Given the description of an element on the screen output the (x, y) to click on. 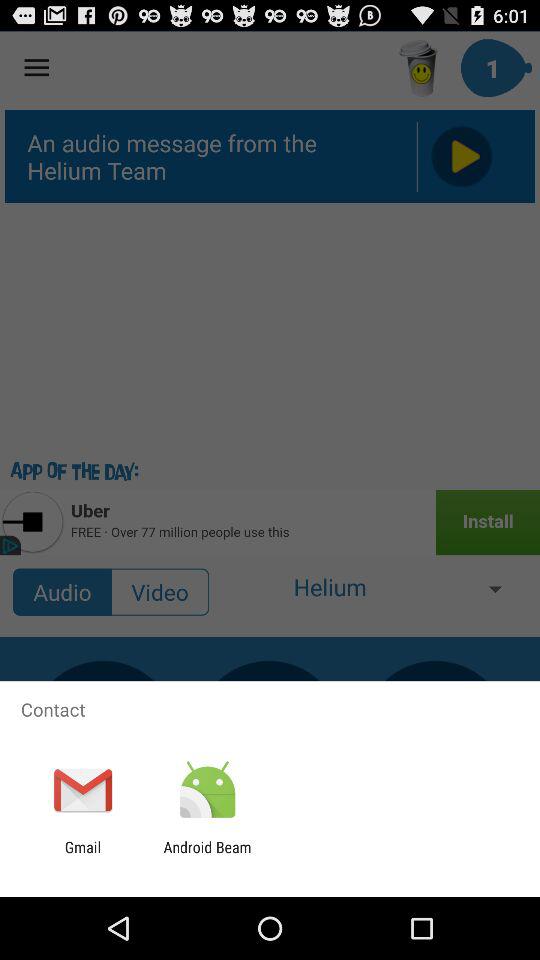
turn on app next to the android beam icon (82, 856)
